Given the description of an element on the screen output the (x, y) to click on. 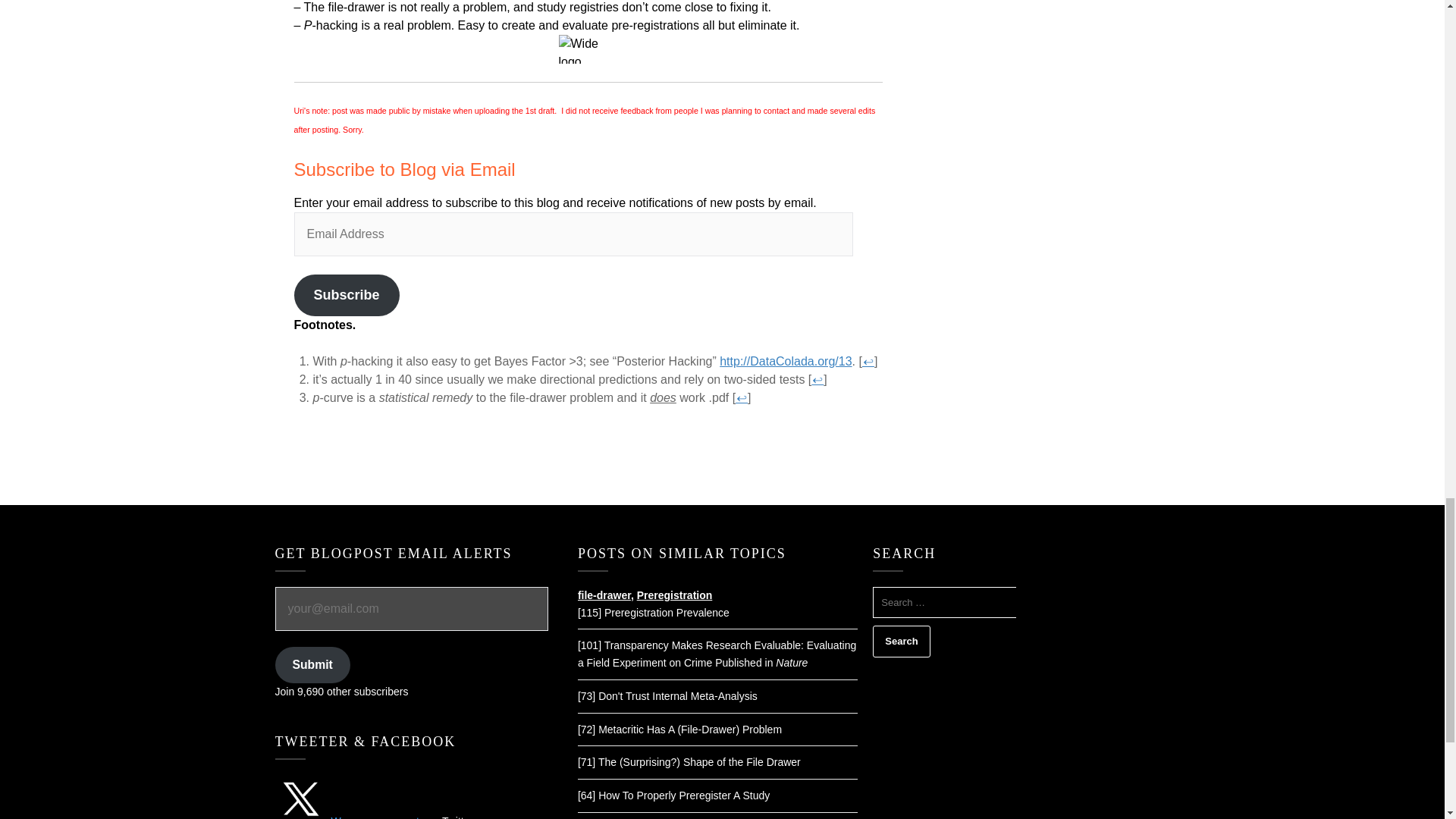
Twitter (457, 816)
Subscribe (346, 295)
Search (901, 641)
Search (901, 641)
Submit (312, 665)
